Given the description of an element on the screen output the (x, y) to click on. 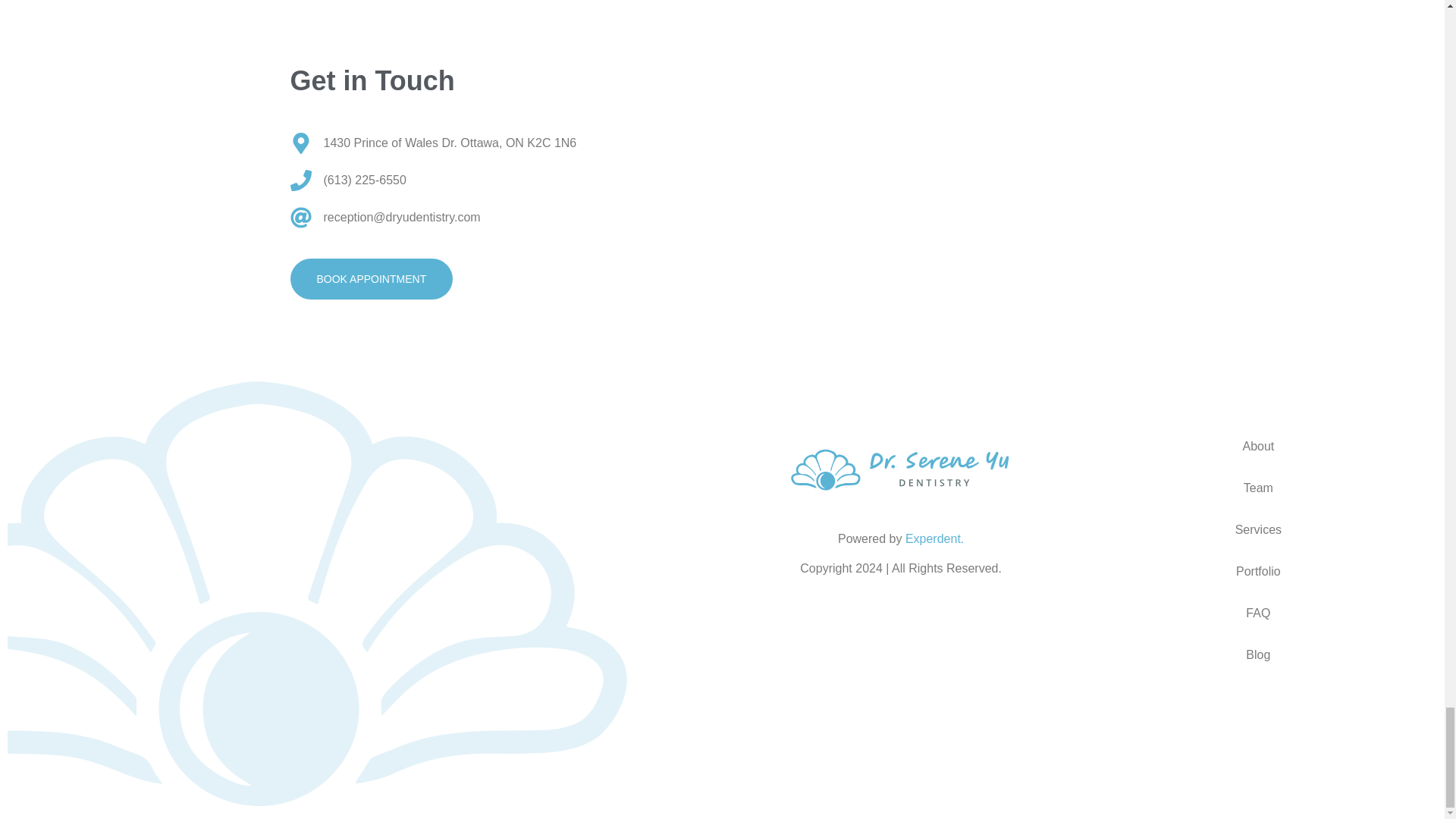
1430 Prince of Wales Dr. Ottawa, ON K2C 1N6 (432, 142)
About (1258, 445)
Experdent (932, 538)
Team (1258, 487)
Portfolio (1258, 571)
BOOK APPOINTMENT (370, 278)
Services (1258, 529)
